Given the description of an element on the screen output the (x, y) to click on. 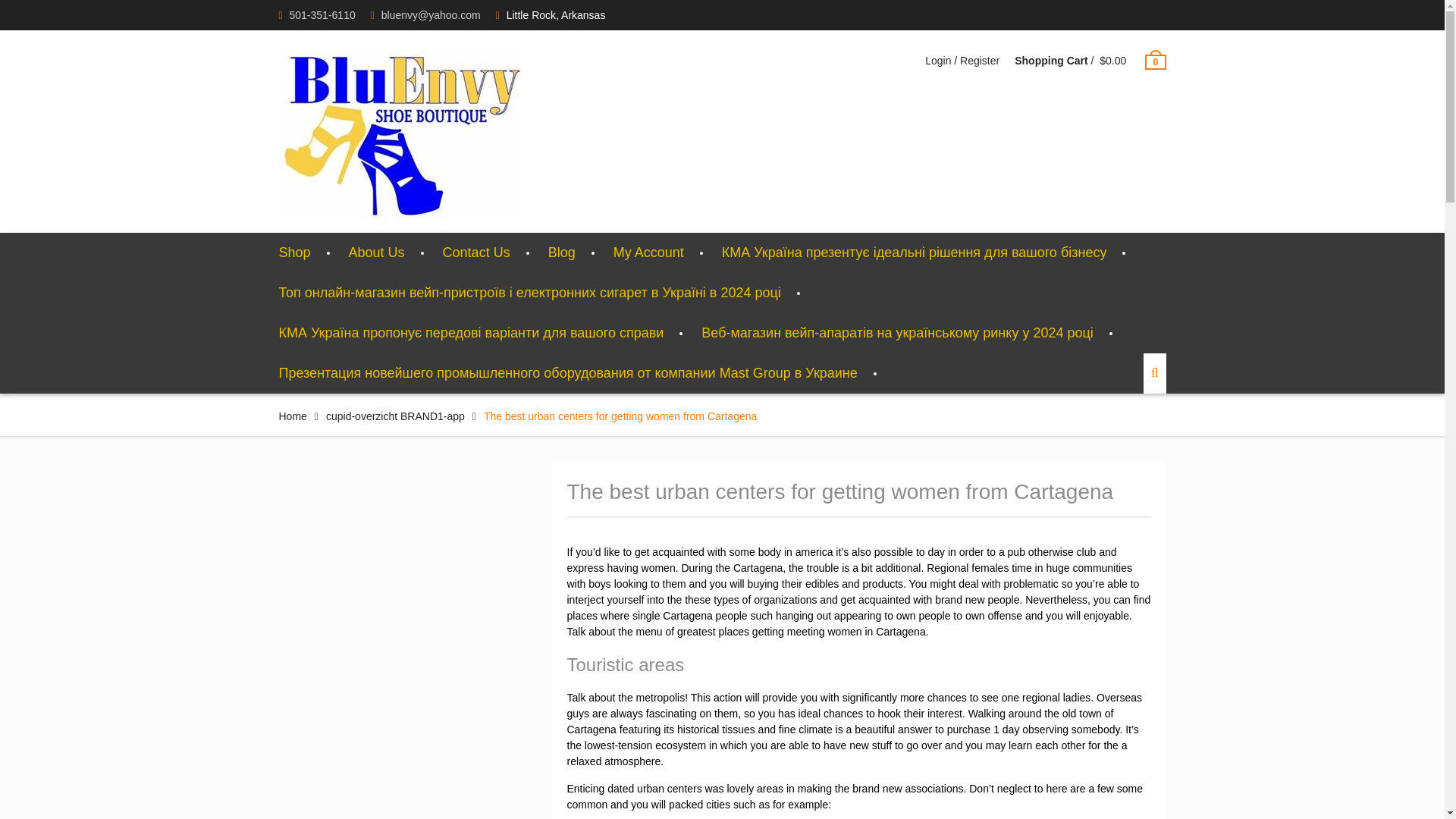
Contact Us (476, 252)
0 (1155, 61)
My Account (648, 252)
About Us (376, 252)
Home (293, 416)
501-351-6110 (322, 15)
cupid-overzicht BRAND1-app (395, 416)
